Given the description of an element on the screen output the (x, y) to click on. 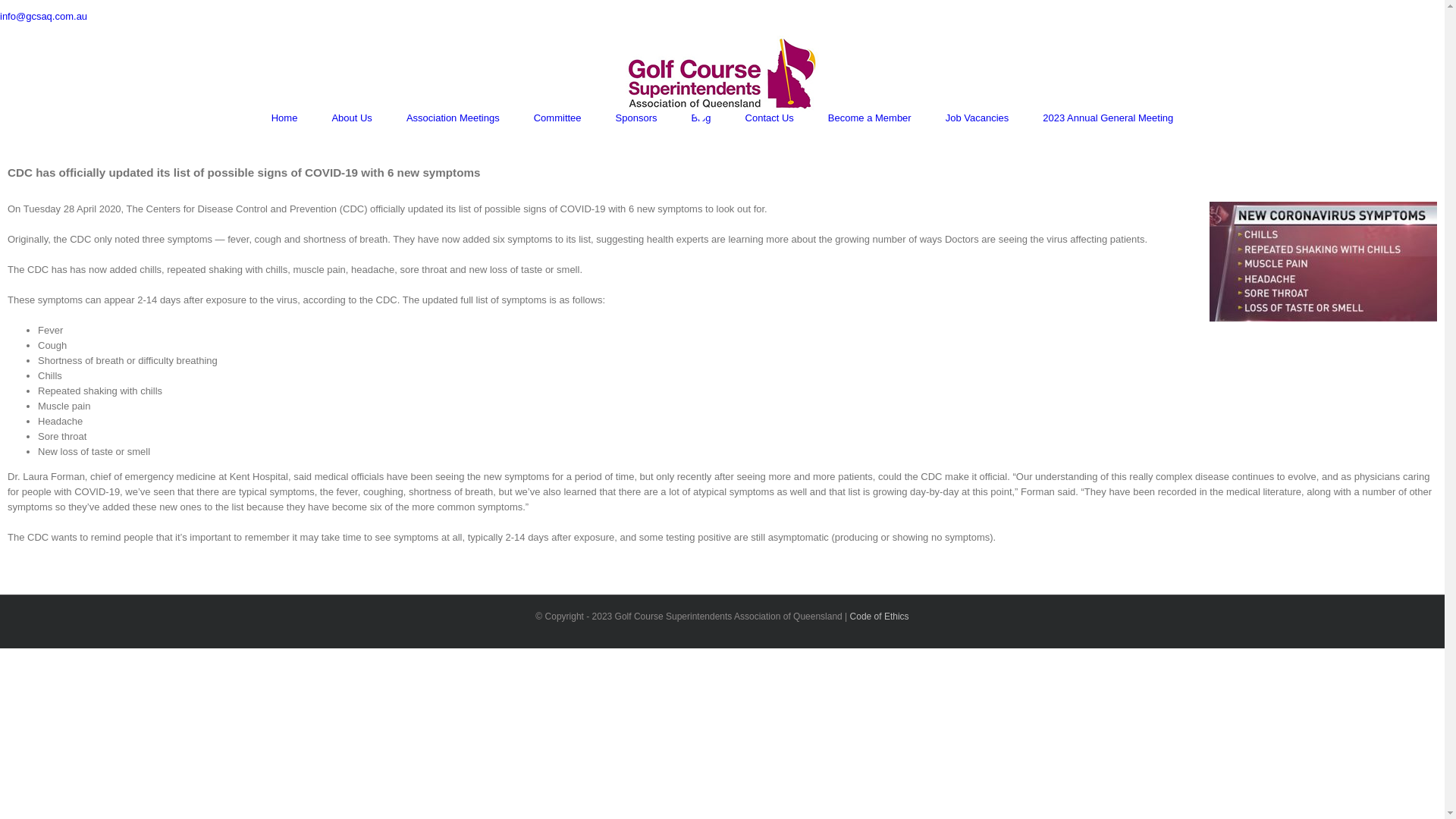
Become a Member Element type: text (869, 117)
Association Meetings Element type: text (452, 117)
Home Element type: text (284, 117)
Blog Element type: text (701, 117)
Committee Element type: text (557, 117)
Sponsors Element type: text (636, 117)
About Us Element type: text (351, 117)
Code of Ethics Element type: text (879, 616)
Contact Us Element type: text (769, 117)
Job Vacancies Element type: text (977, 117)
2023 Annual General Meeting Element type: text (1107, 117)
info@gcsaq.com.au Element type: text (43, 15)
